Given the description of an element on the screen output the (x, y) to click on. 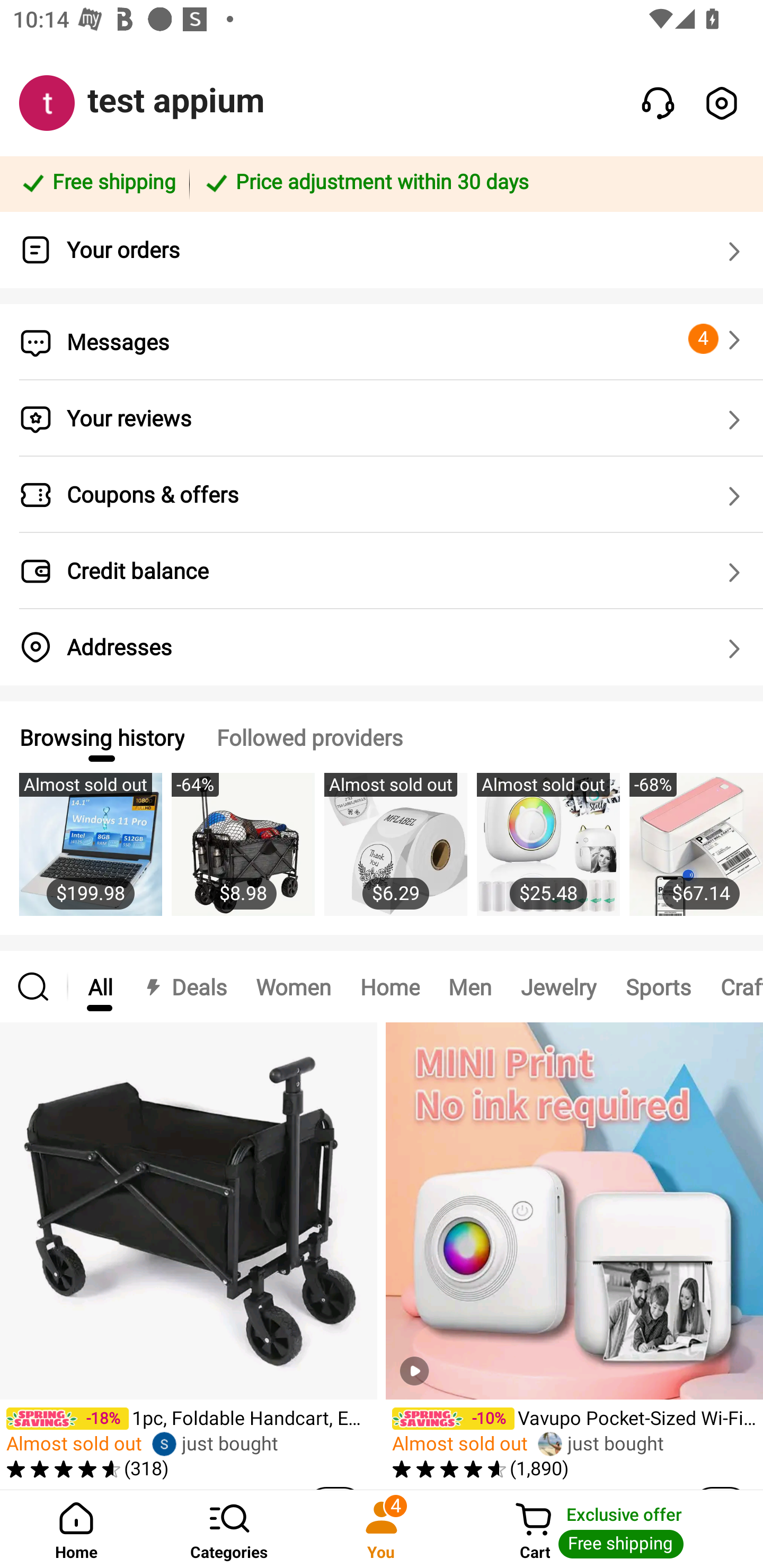
test appium (175, 100)
Free shipping (97, 183)
Price adjustment within 30 days (472, 183)
Your orders (381, 249)
Messages 4 (381, 342)
4 (717, 339)
Your reviews (381, 418)
Coupons & offers (381, 494)
Credit balance (381, 571)
Addresses (381, 647)
Browsing history (101, 736)
Followed providers (308, 736)
Almost sold out $199.98 (90, 853)
-64% $8.98 (242, 853)
Almost sold out $6.29 (395, 853)
Almost sold out $25.48 (547, 853)
-68% $67.14 (696, 853)
All (99, 986)
Deals Deals Deals (183, 986)
Women (293, 986)
Home (389, 986)
Men (469, 986)
Jewelry (558, 986)
Sports (658, 986)
Home (76, 1528)
Categories (228, 1528)
You 4 You (381, 1528)
Cart Cart Exclusive offer (610, 1528)
